Given the description of an element on the screen output the (x, y) to click on. 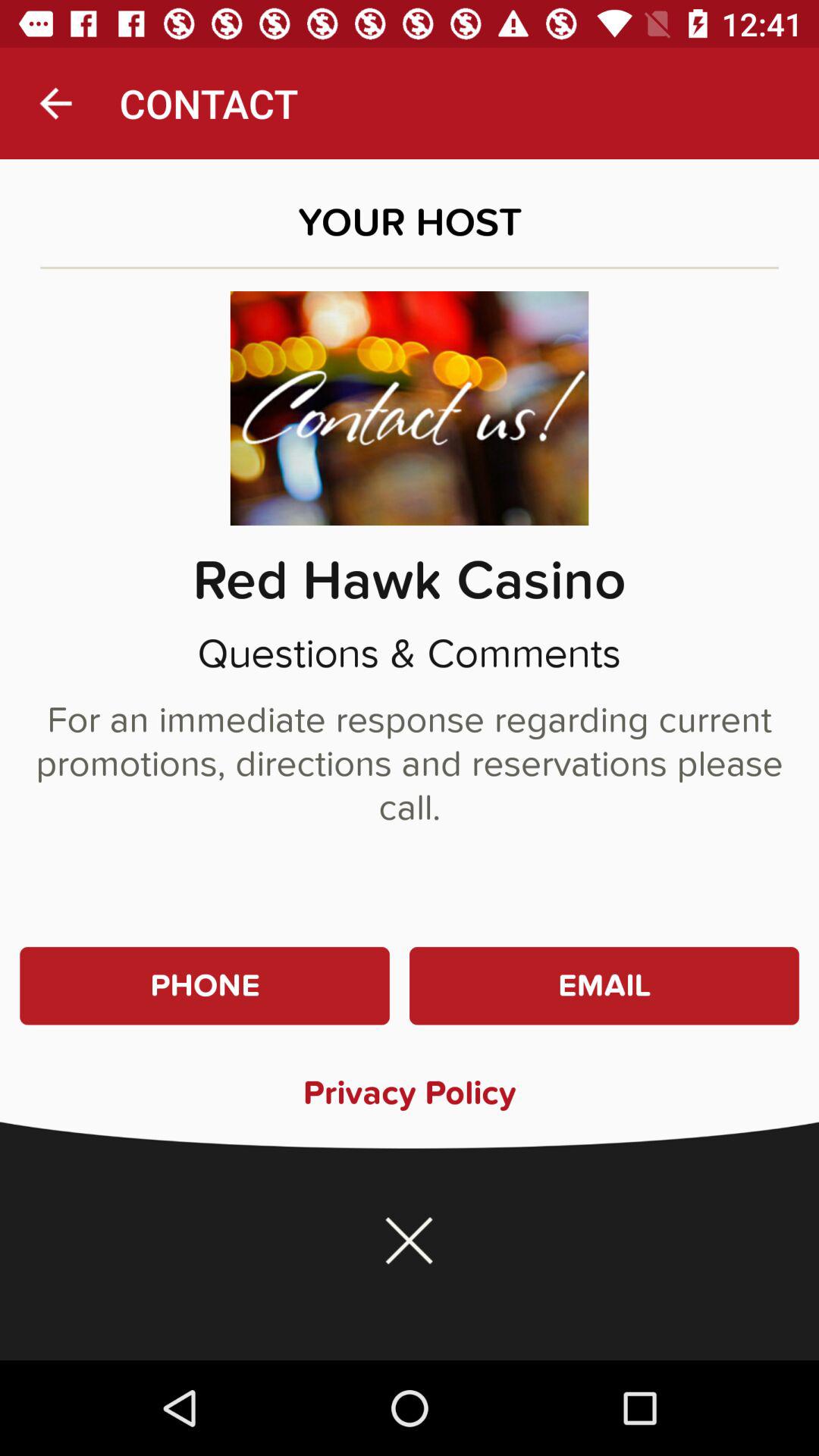
turn off the item above the privacy policy (604, 985)
